Given the description of an element on the screen output the (x, y) to click on. 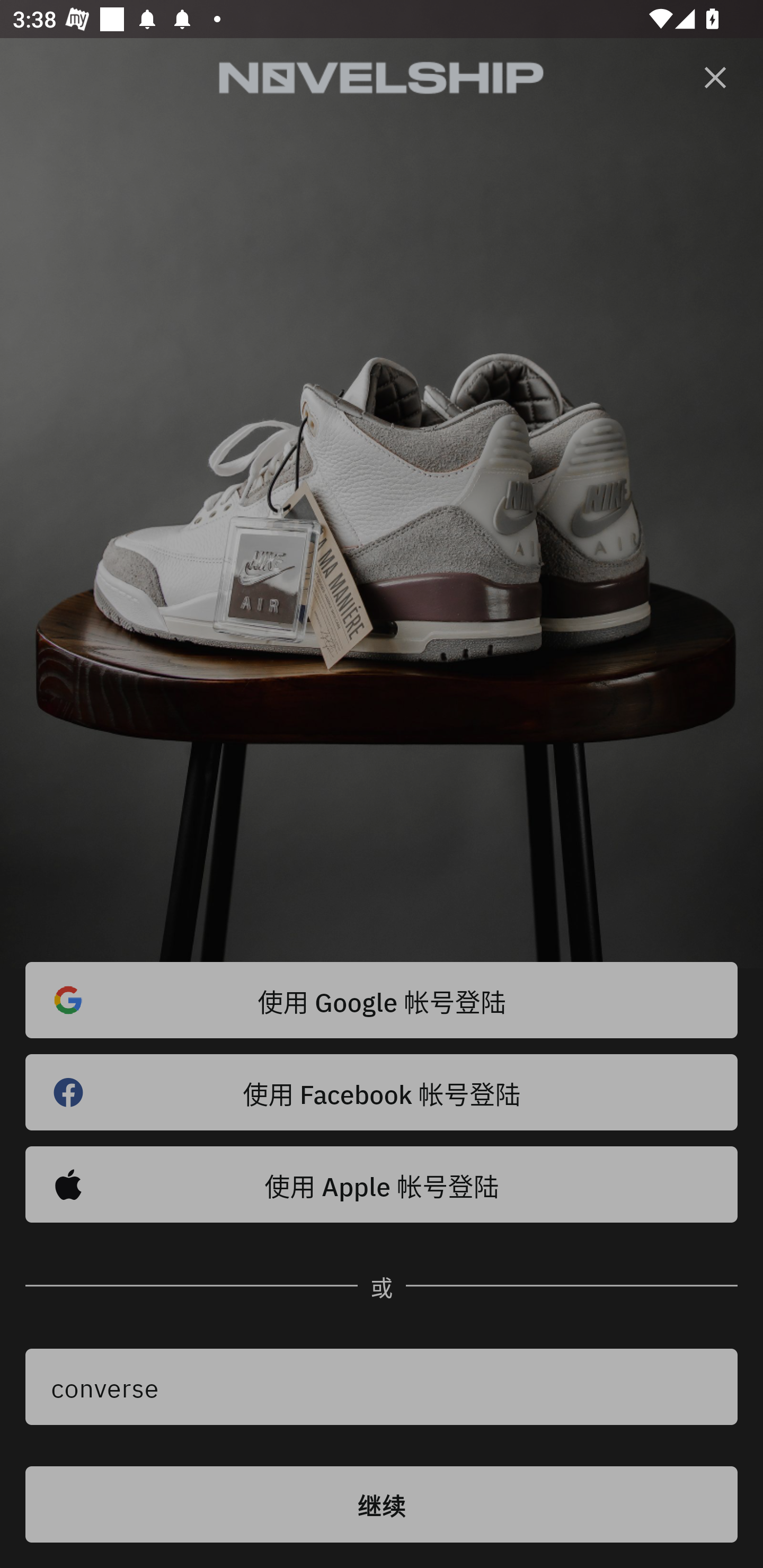
使用 Google 帐号登陆 (381, 1000)
使用 Facebook 帐号登陆 󰈌 (381, 1091)
 使用 Apple 帐号登陆 (381, 1184)
converse (381, 1386)
继续 (381, 1504)
